Given the description of an element on the screen output the (x, y) to click on. 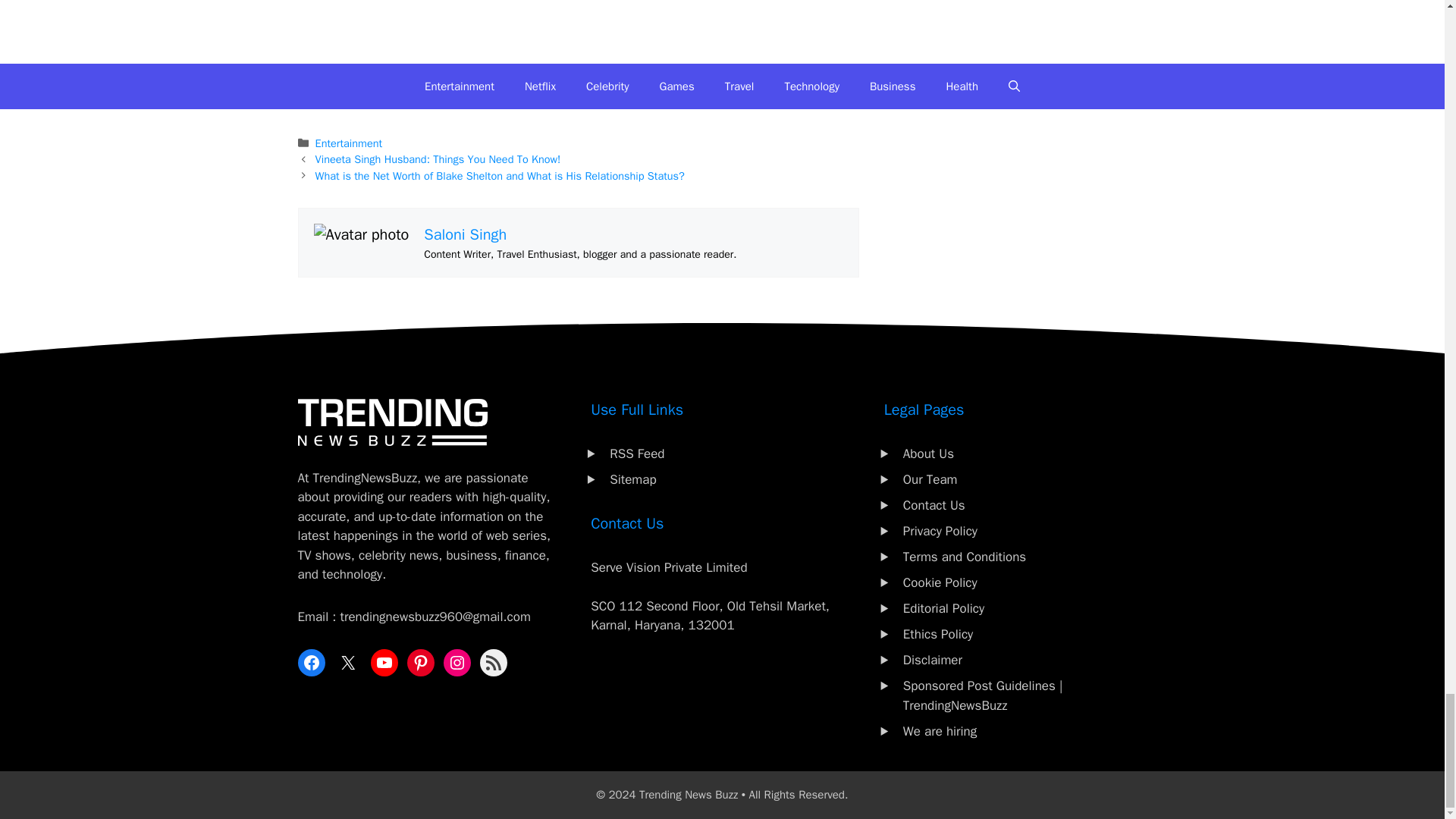
Entertainment (348, 142)
Saloni Singh (464, 234)
Vineeta Singh Husband: Things You Need To Know! (437, 159)
